Given the description of an element on the screen output the (x, y) to click on. 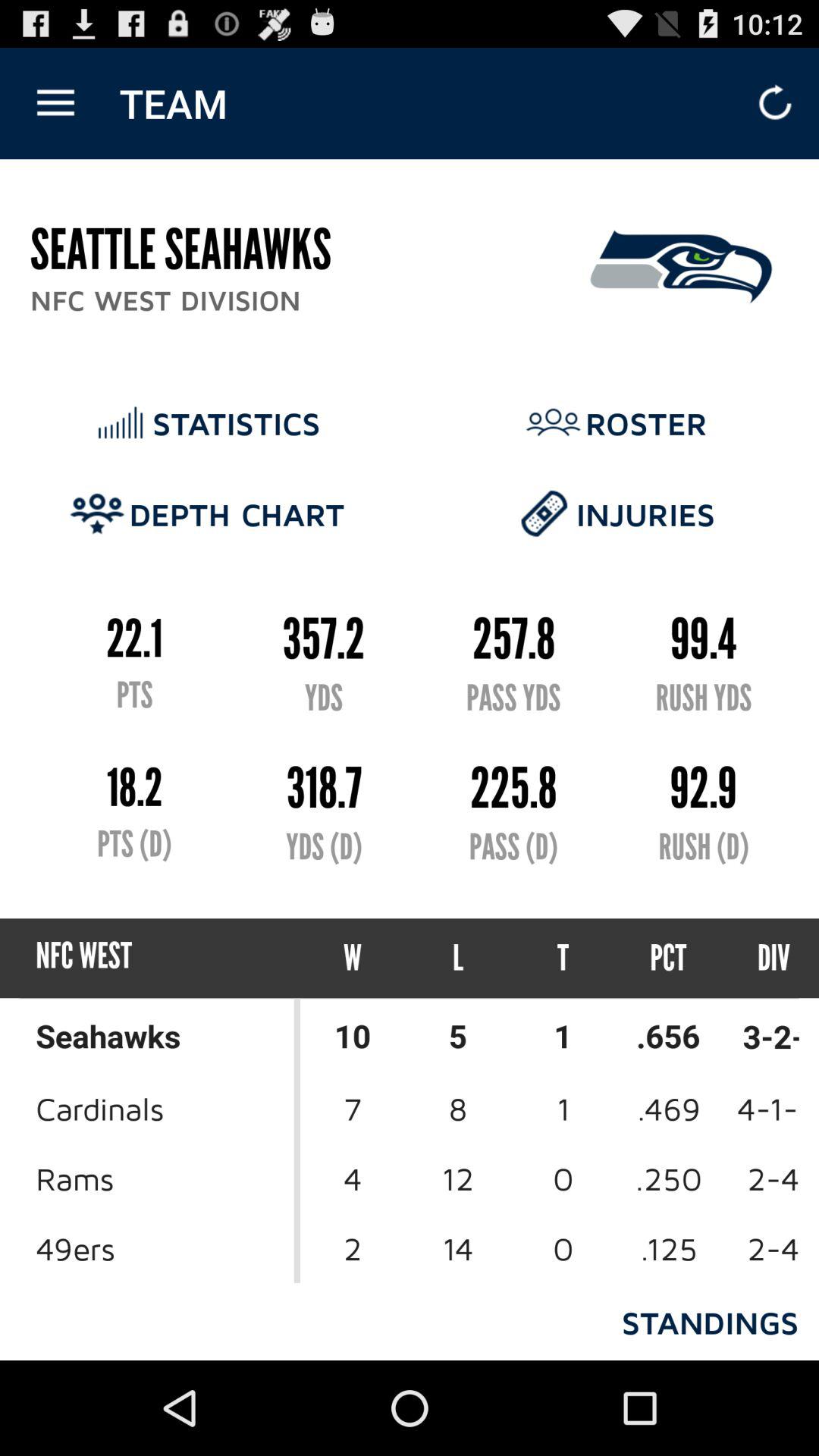
click item above the seattle seahawks icon (55, 103)
